Given the description of an element on the screen output the (x, y) to click on. 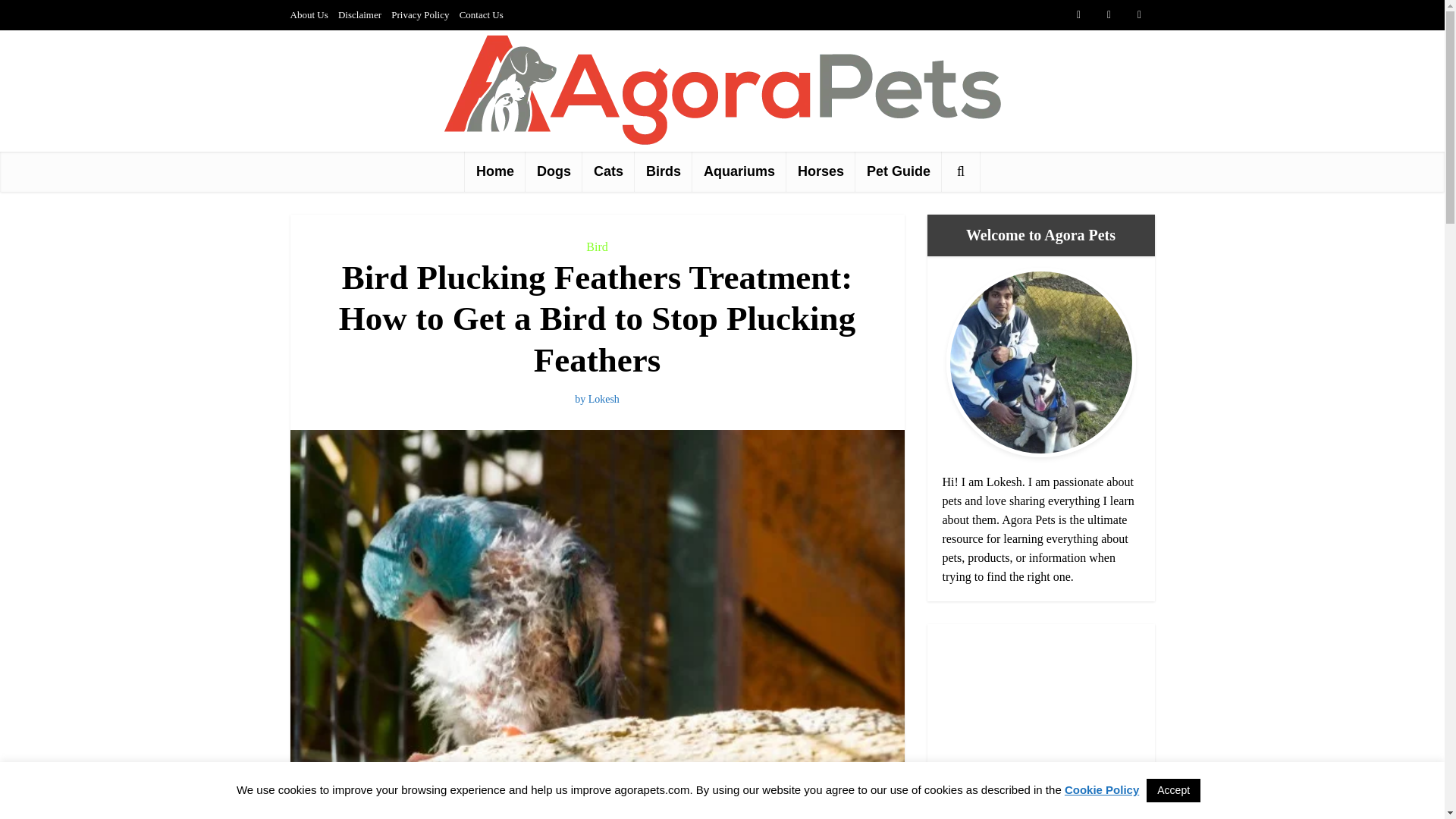
About Us (308, 14)
Pet Guide (899, 171)
Horses (821, 171)
Bird (596, 245)
Contact Us (481, 14)
Cats (608, 171)
Birds (663, 171)
Privacy Policy (419, 14)
Lokesh (604, 399)
Dogs (553, 171)
